Given the description of an element on the screen output the (x, y) to click on. 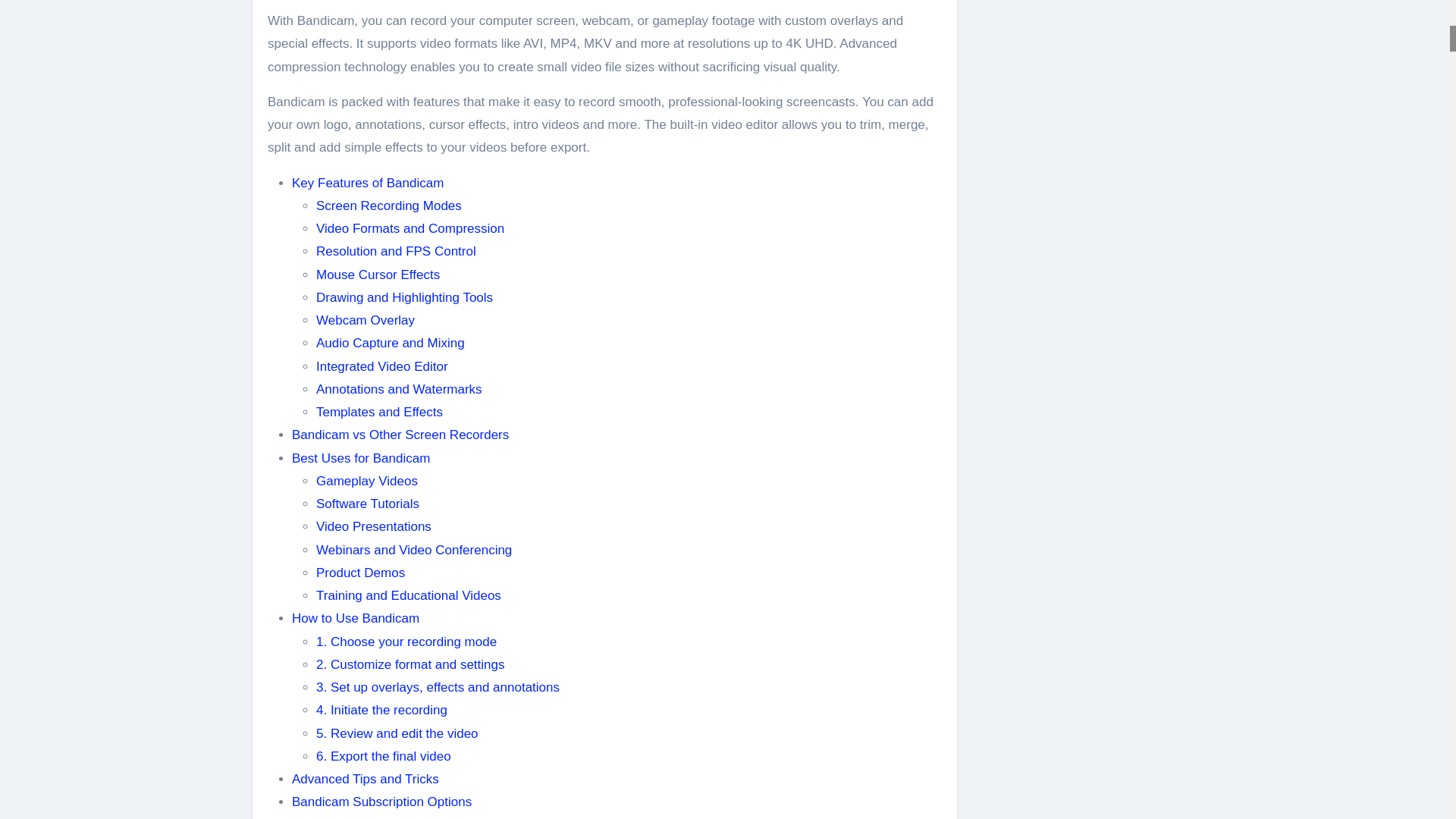
Key Features of Bandicam (368, 183)
Bandicam vs Other Screen Recorders (400, 434)
How to Use Bandicam (355, 617)
Training and Educational Videos (407, 595)
Video Presentations (372, 526)
Audio Capture and Mixing (389, 342)
Webcam Overlay (364, 319)
Product Demos (359, 572)
Software Tutorials (367, 503)
Templates and Effects (378, 411)
1. Choose your recording mode (405, 640)
Integrated Video Editor (381, 366)
Webinars and Video Conferencing (413, 549)
Mouse Cursor Effects (377, 273)
Drawing and Highlighting Tools (404, 297)
